Given the description of an element on the screen output the (x, y) to click on. 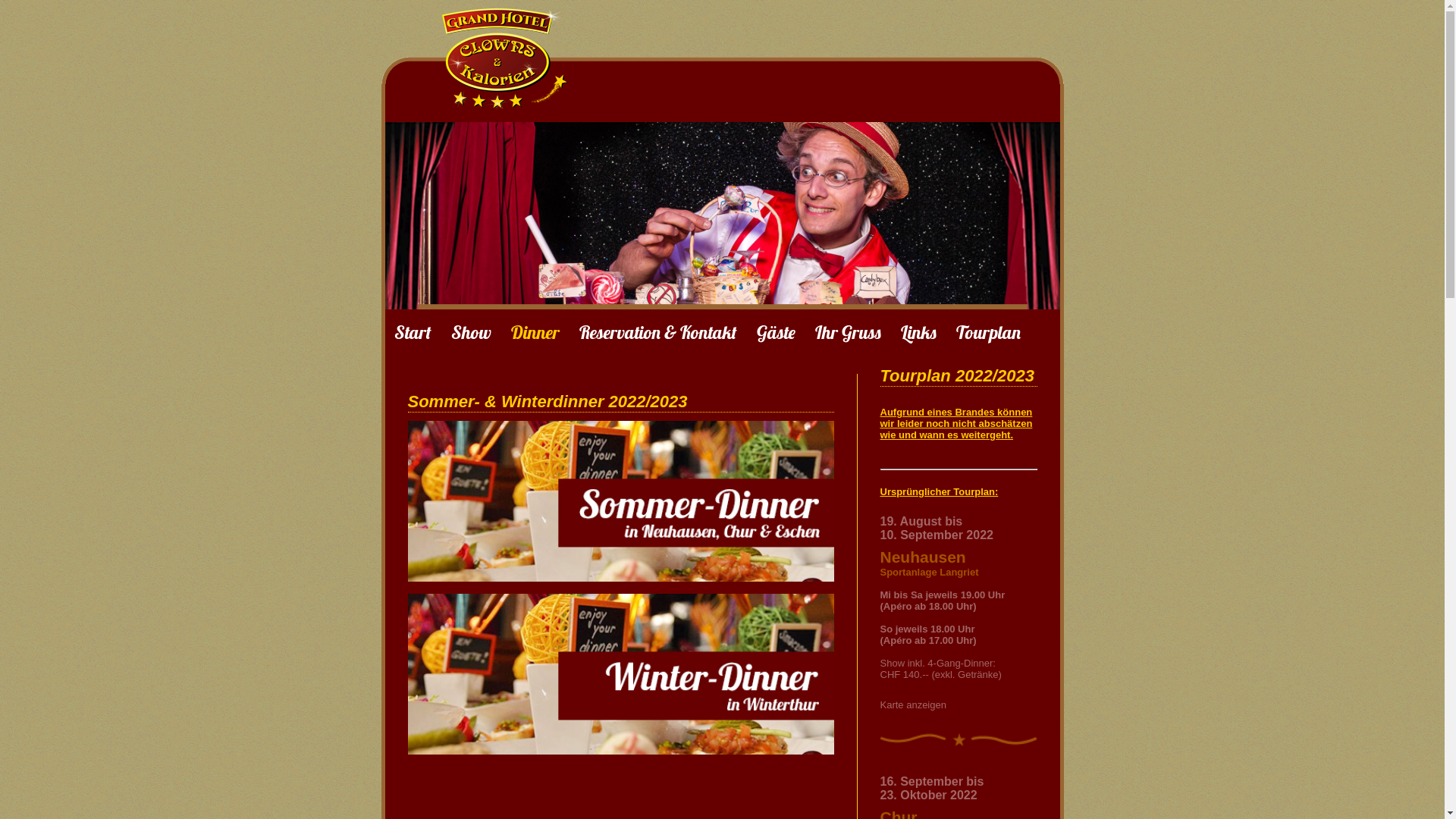
Show Element type: text (470, 331)
Karte anzeigen Element type: text (912, 704)
Tourplan Element type: text (987, 331)
Dinner Element type: text (535, 331)
Reservation & Kontakt Element type: text (658, 331)
Ihr Gruss Element type: text (847, 331)
Links Element type: text (918, 331)
Start Element type: text (412, 331)
